Given the description of an element on the screen output the (x, y) to click on. 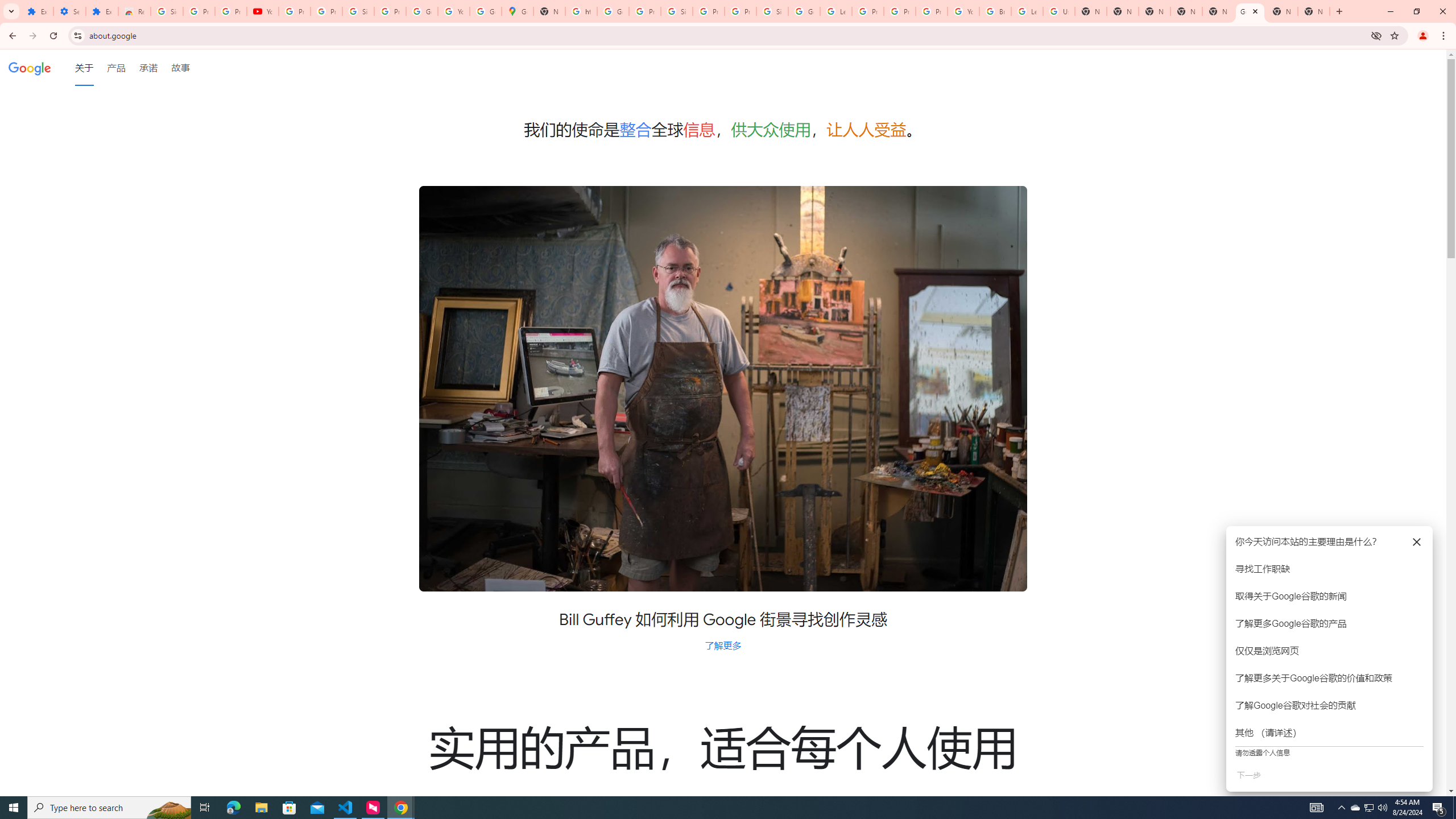
Google Account (421, 11)
Back (10, 35)
Google Maps (517, 11)
Google (29, 67)
Minimize (1390, 11)
